Given the description of an element on the screen output the (x, y) to click on. 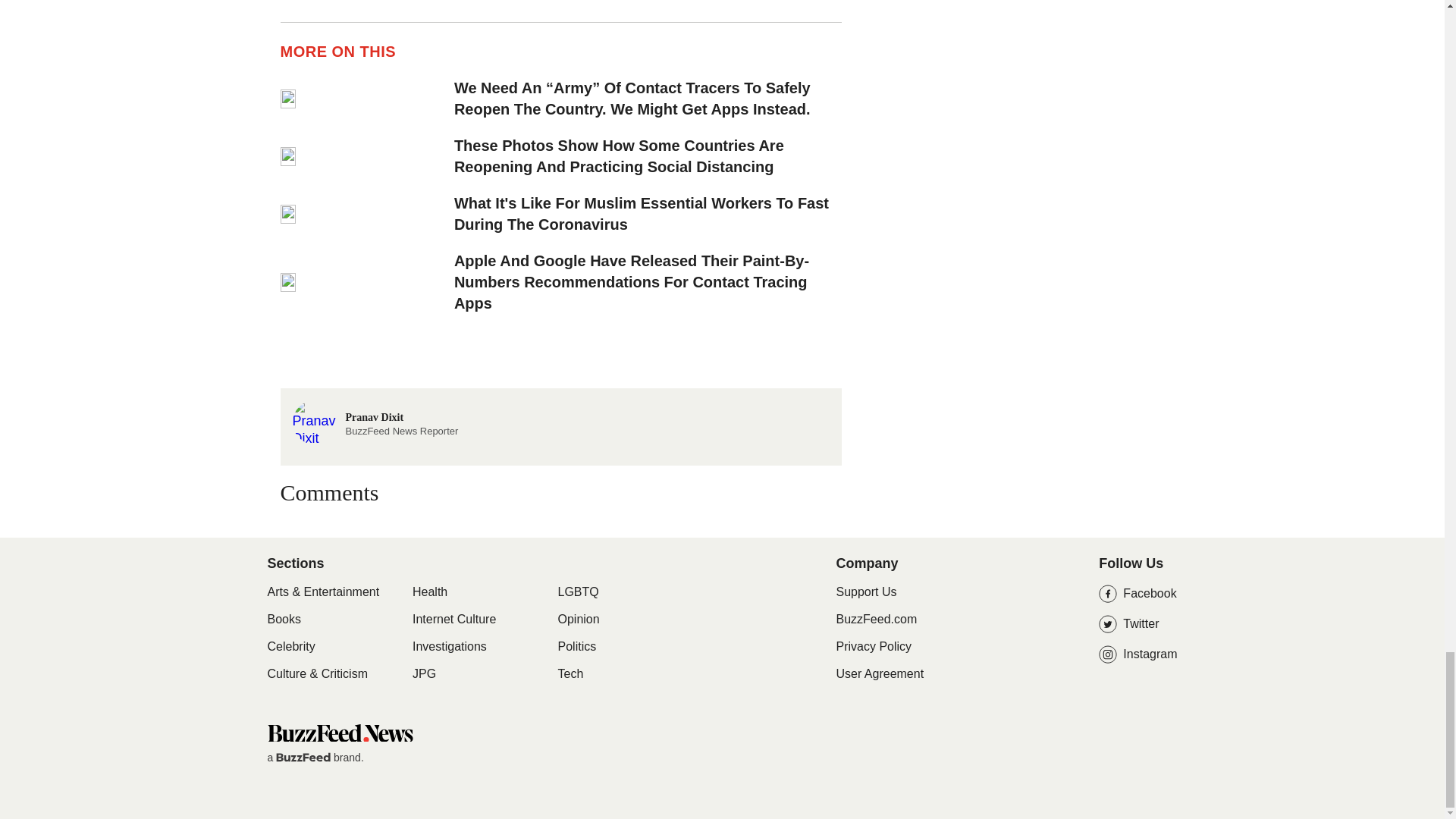
BuzzFeed (303, 757)
BuzzFeed News Home (339, 732)
